Given the description of an element on the screen output the (x, y) to click on. 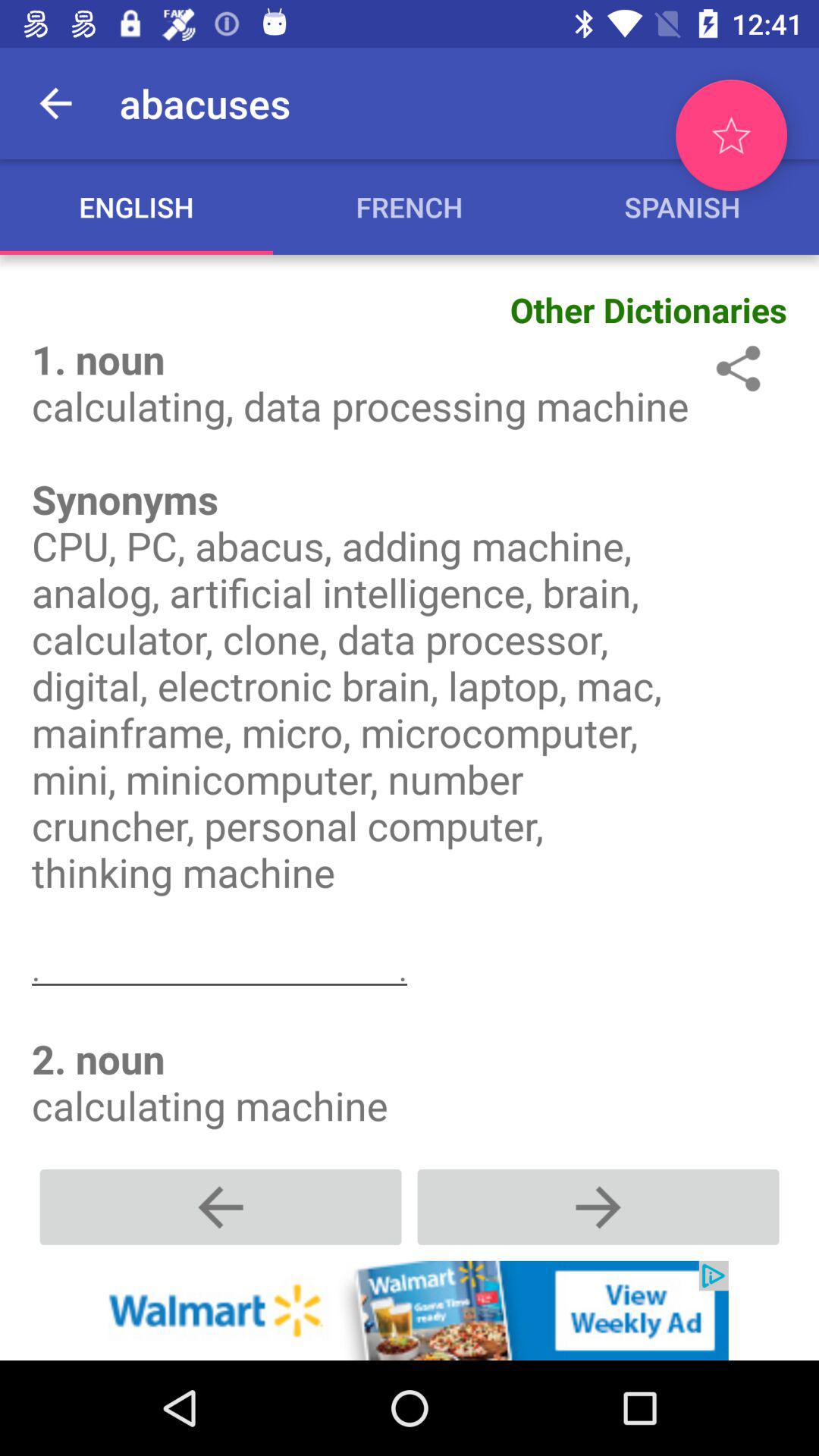
share the atricle (735, 368)
